Given the description of an element on the screen output the (x, y) to click on. 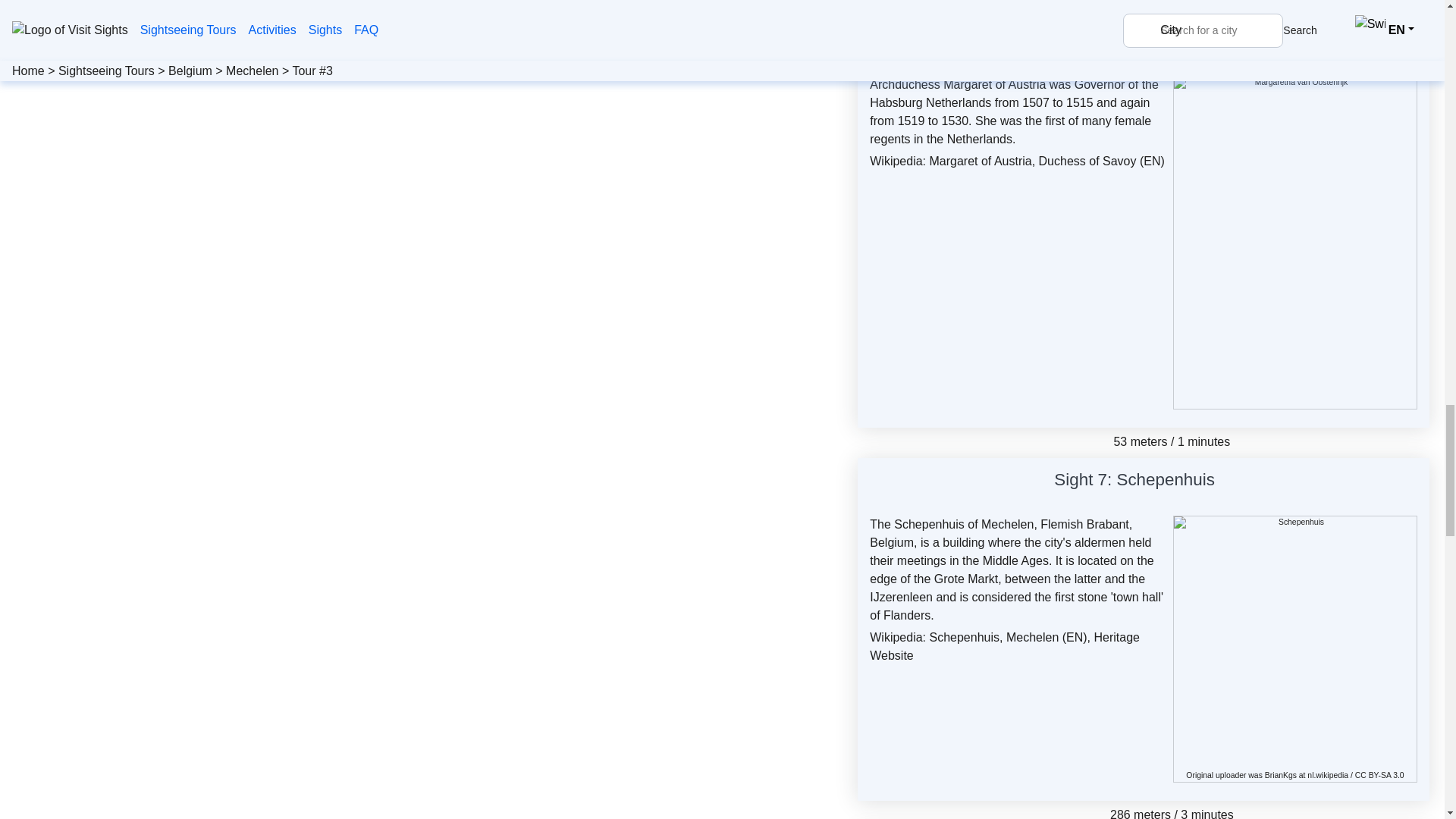
nl:User:BrianKgs (1281, 775)
